Given the description of an element on the screen output the (x, y) to click on. 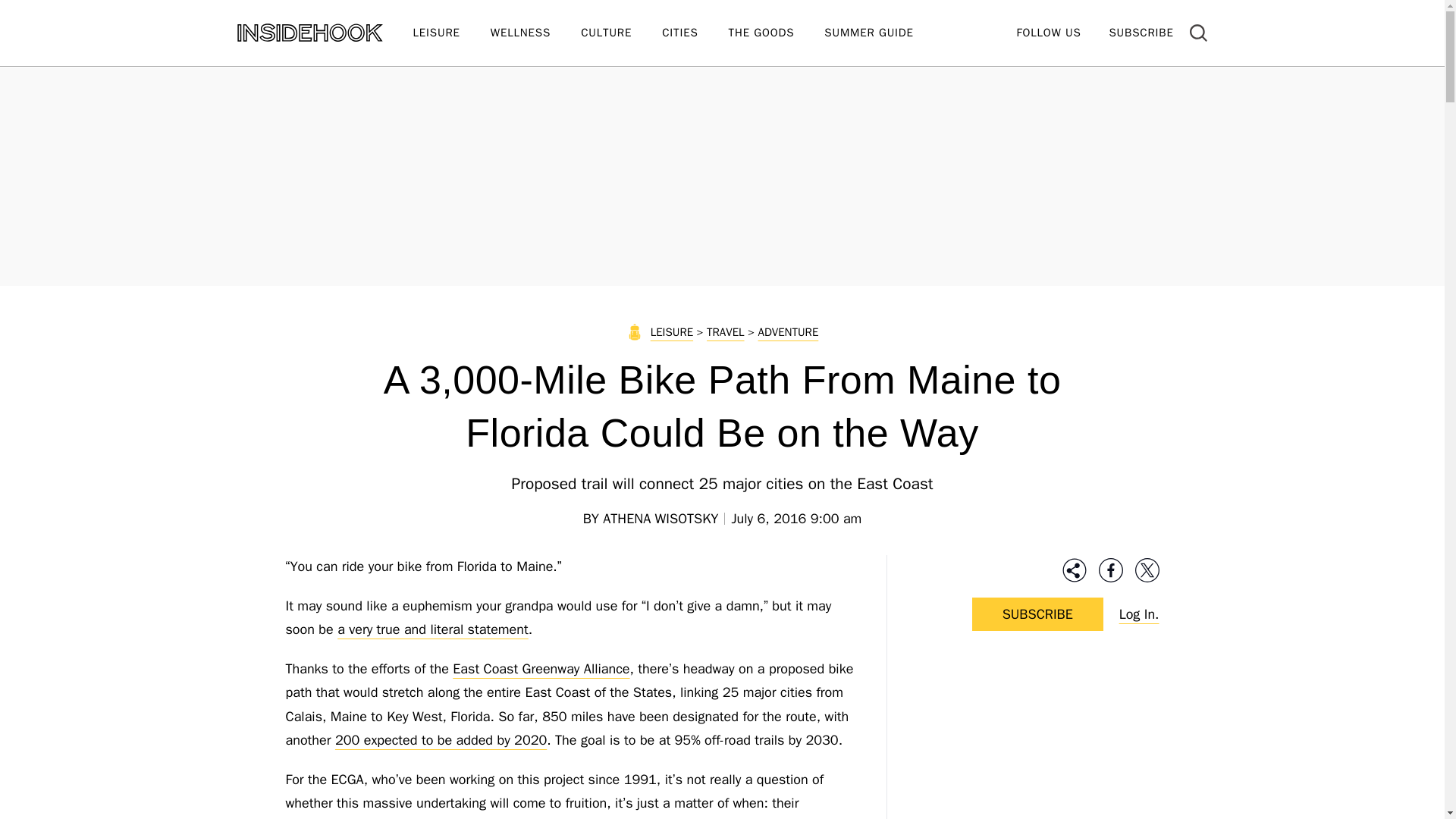
SUBSCRIBE (1140, 32)
THE GOODS (777, 32)
CULTURE (621, 32)
CITIES (695, 32)
SUMMER GUIDE (883, 32)
FOLLOW US (1048, 32)
WELLNESS (535, 32)
LEISURE (450, 32)
